Given the description of an element on the screen output the (x, y) to click on. 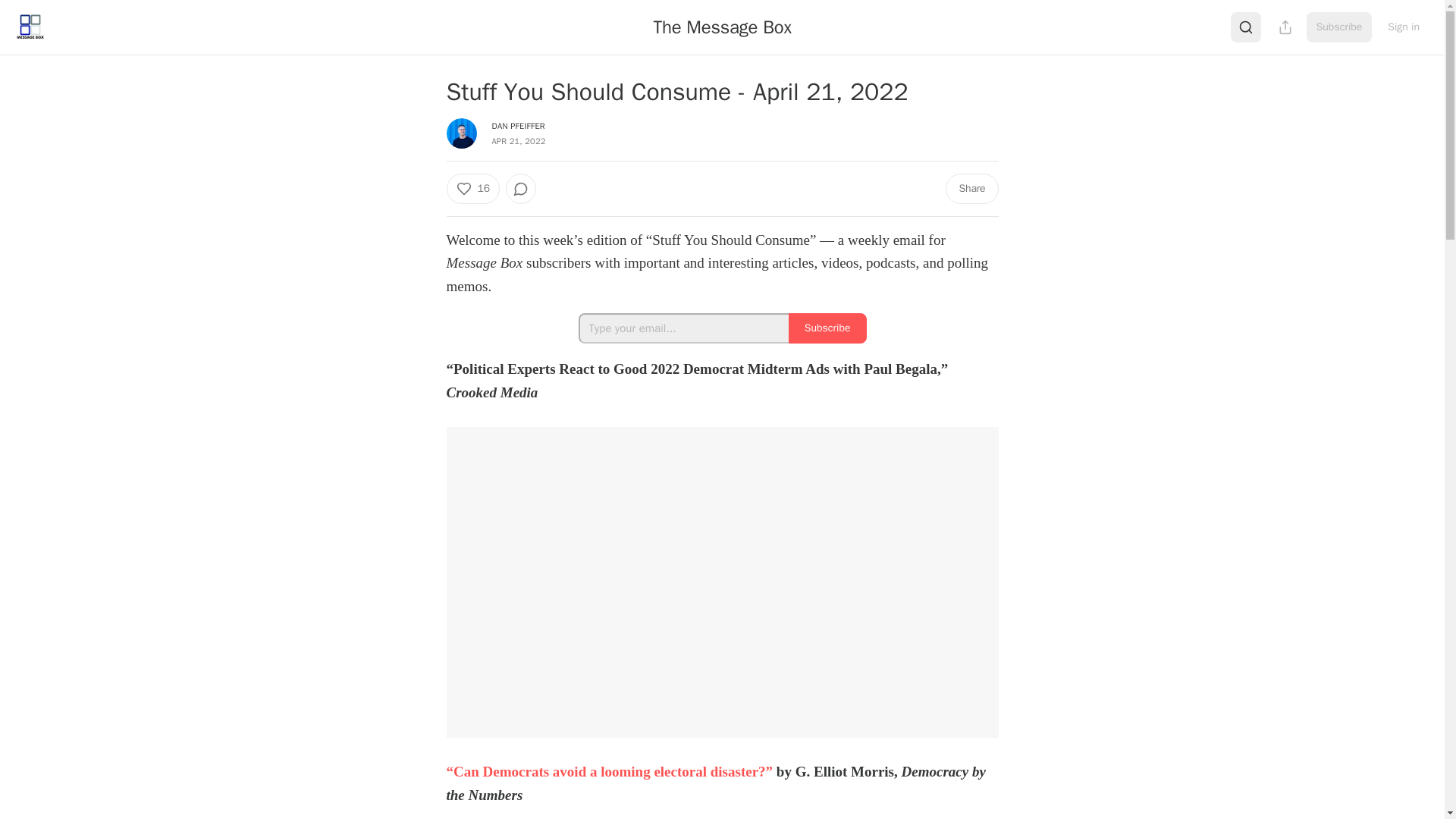
DAN PFEIFFER (518, 125)
Subscribe (827, 327)
Subscribe (1339, 27)
The Message Box (722, 26)
16 (472, 188)
Share (970, 188)
Sign in (1403, 27)
